Given the description of an element on the screen output the (x, y) to click on. 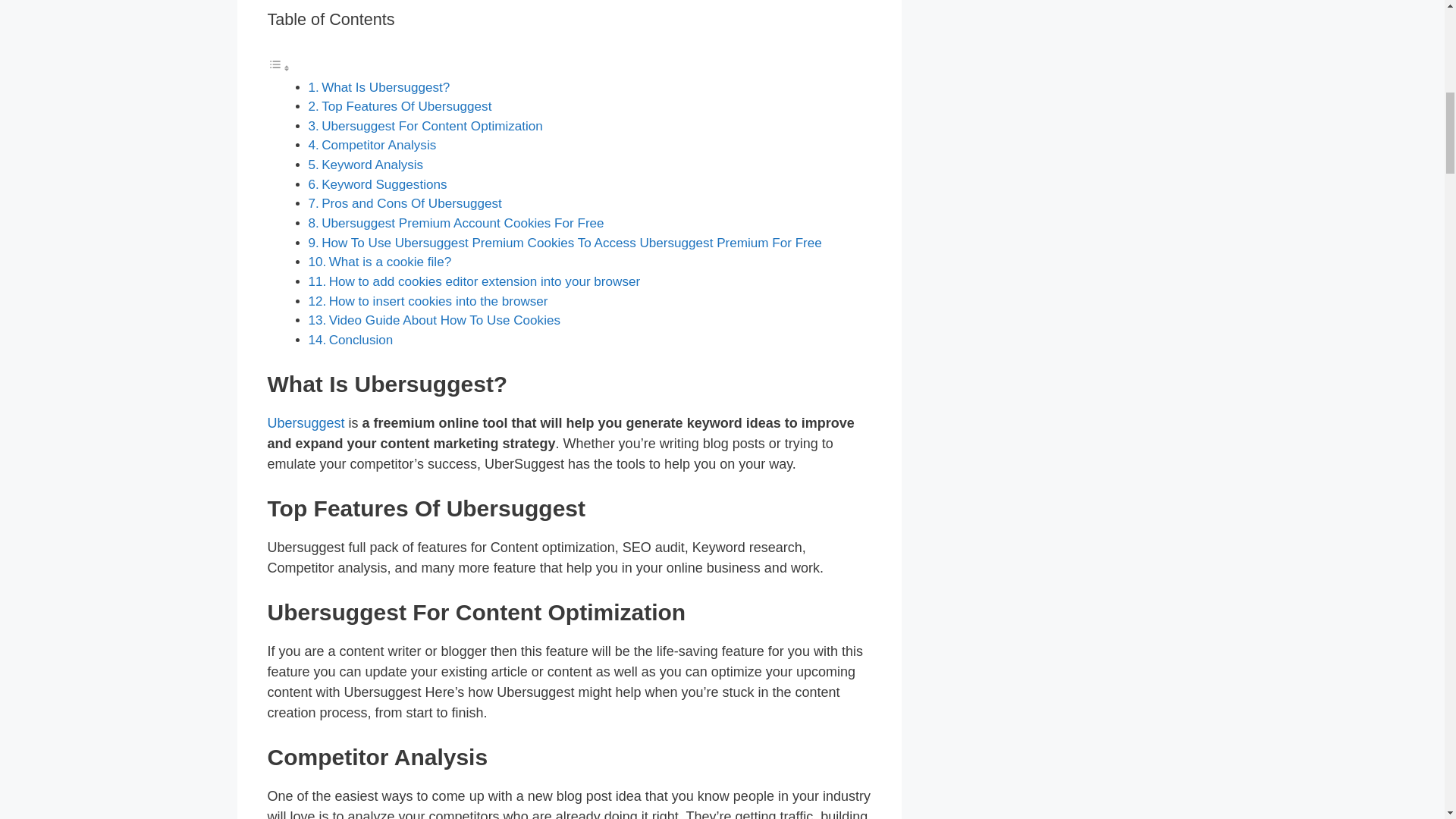
Pros and Cons Of Ubersuggest (411, 203)
Competitor Analysis (378, 145)
Ubersuggest Premium Account Cookies For Free (462, 223)
Ubersuggest Premium Account Cookies For Free (462, 223)
What Is Ubersuggest? (385, 87)
What Is Ubersuggest? (385, 87)
Keyword Analysis (372, 164)
Keyword Analysis (372, 164)
Ubersuggest For Content Optimization (432, 125)
Ubersuggest For Content Optimization (432, 125)
Top Features Of Ubersuggest (406, 106)
What is a cookie file? (390, 261)
 Pros and Cons Of Ubersuggest (411, 203)
Keyword Suggestions (383, 184)
